Given the description of an element on the screen output the (x, y) to click on. 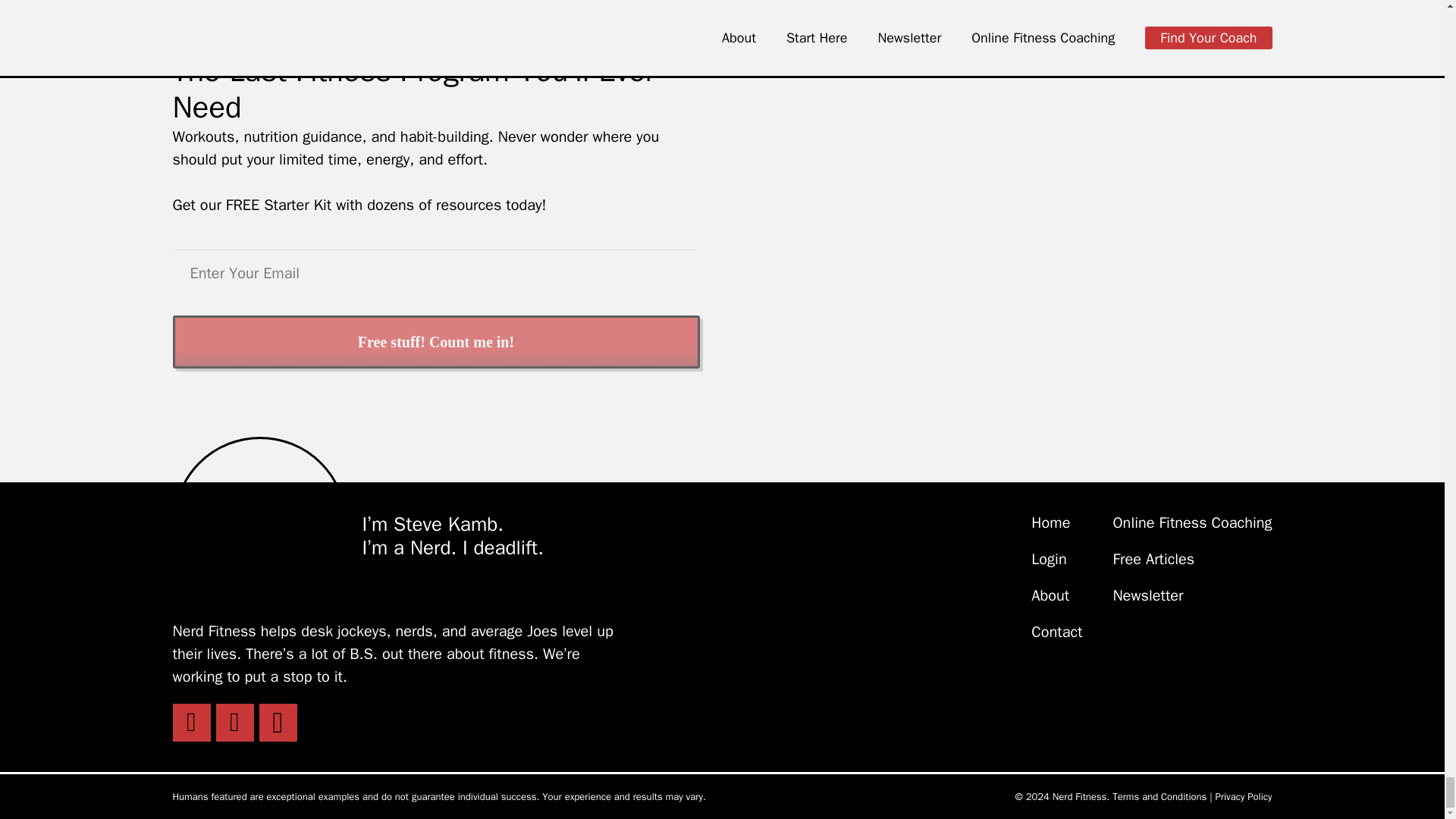
Instagram (278, 722)
Facebook (234, 722)
Free stuff! Count me in! (436, 341)
YouTube (192, 722)
